Given the description of an element on the screen output the (x, y) to click on. 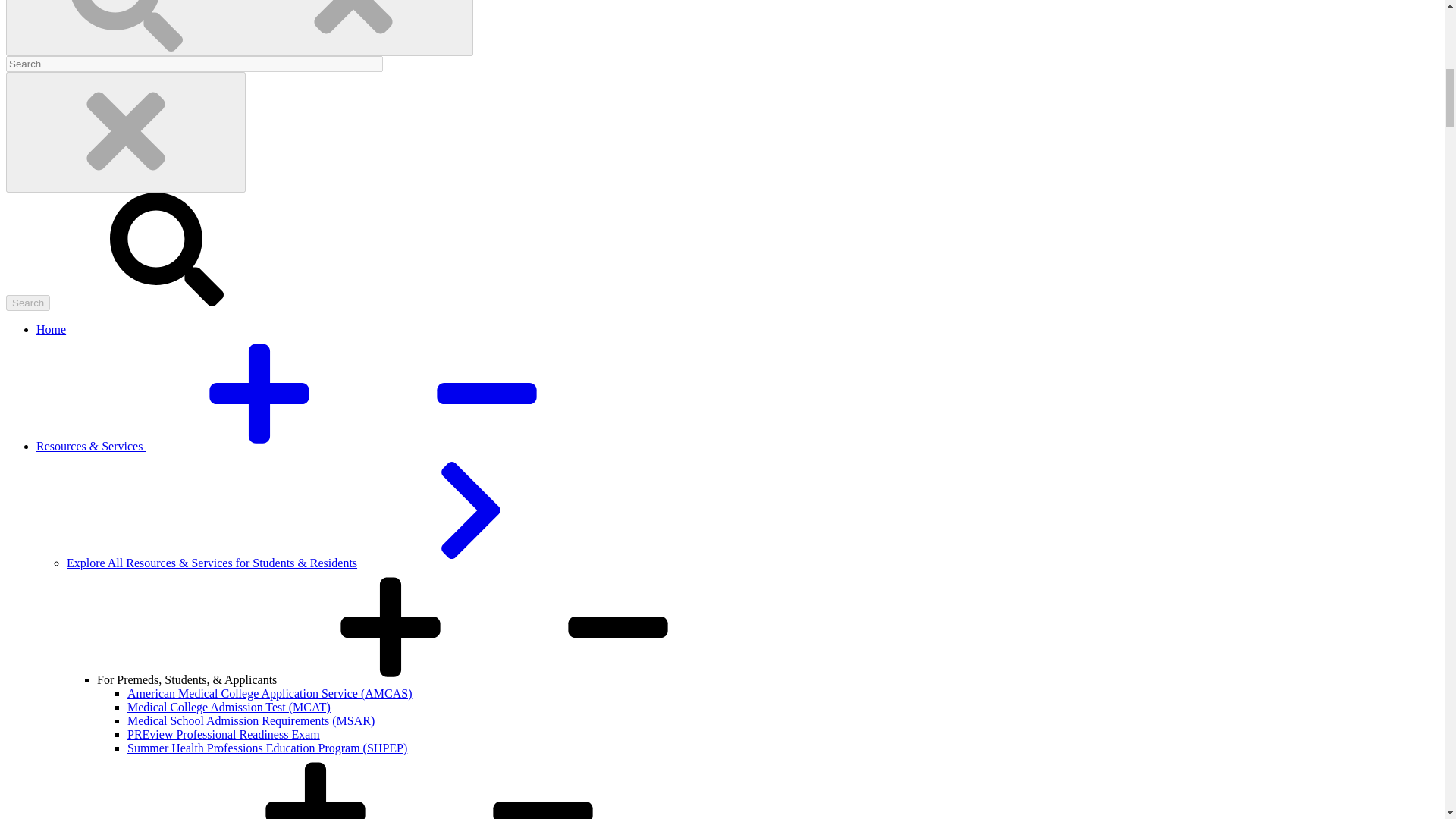
PREview Professional Readiness Exam (224, 734)
Search (27, 302)
Search (27, 302)
Home (50, 328)
